Given the description of an element on the screen output the (x, y) to click on. 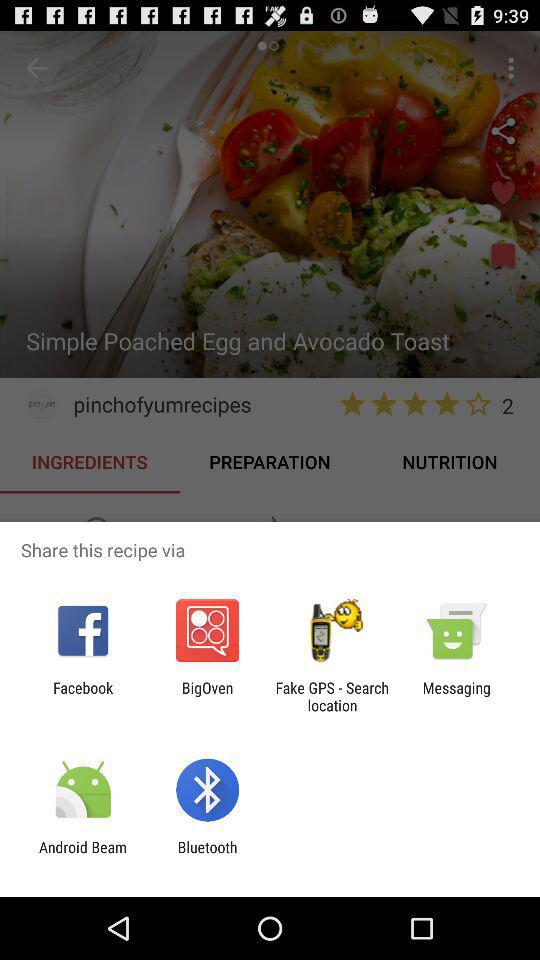
select the item next to the fake gps search icon (207, 696)
